Given the description of an element on the screen output the (x, y) to click on. 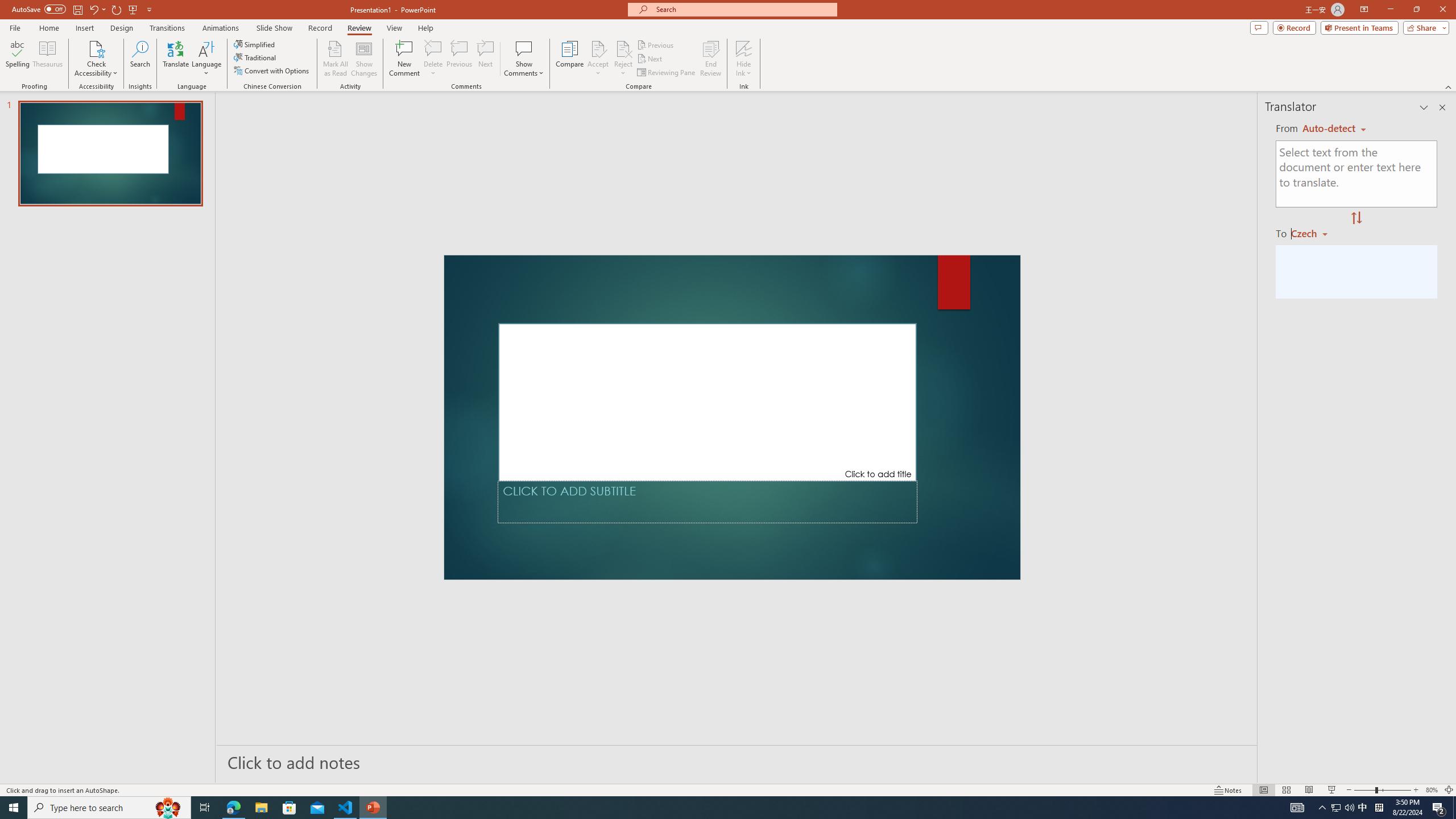
Zoom 80% (1431, 790)
